Given the description of an element on the screen output the (x, y) to click on. 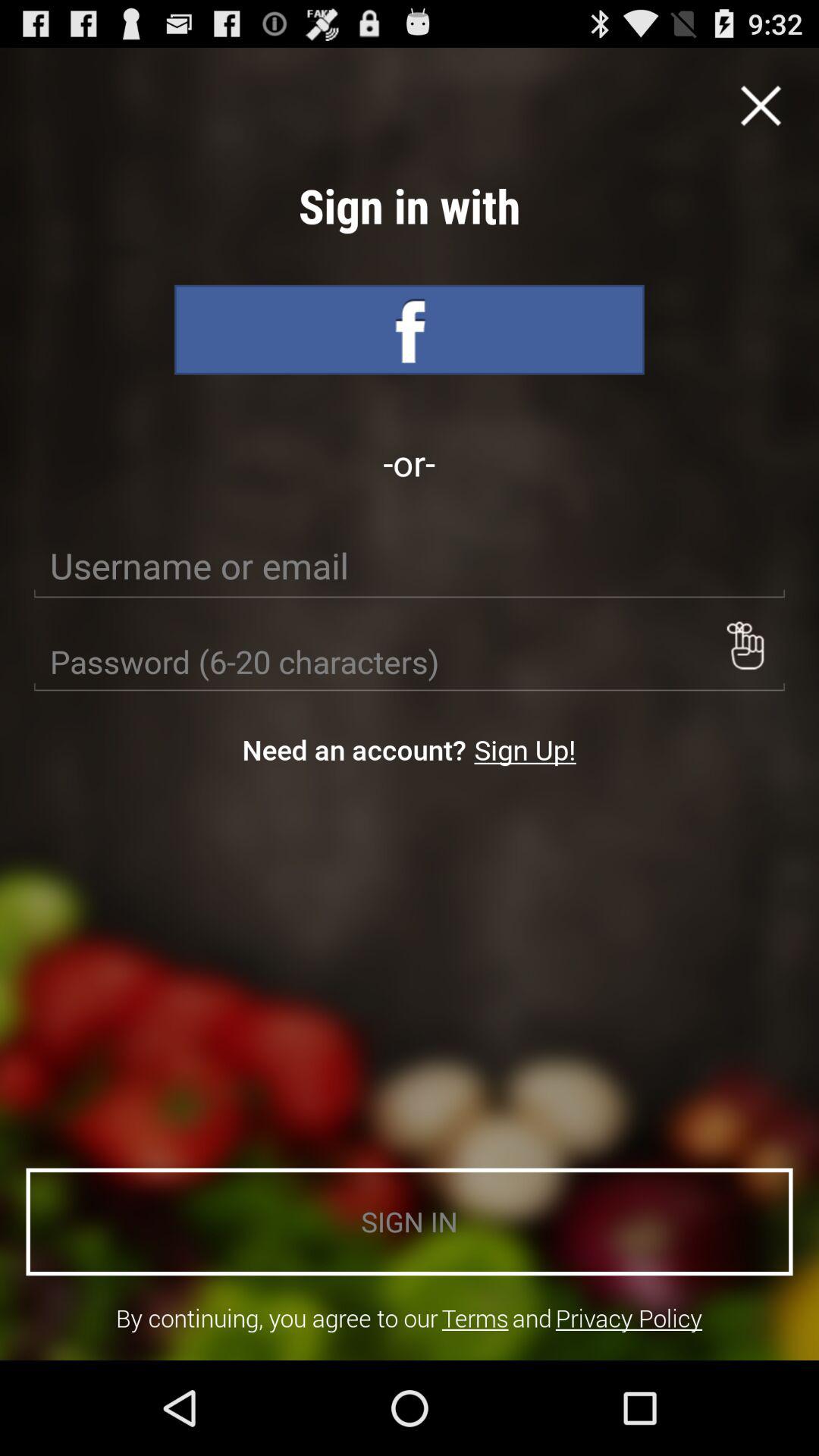
turn on the privacy policy (628, 1317)
